Given the description of an element on the screen output the (x, y) to click on. 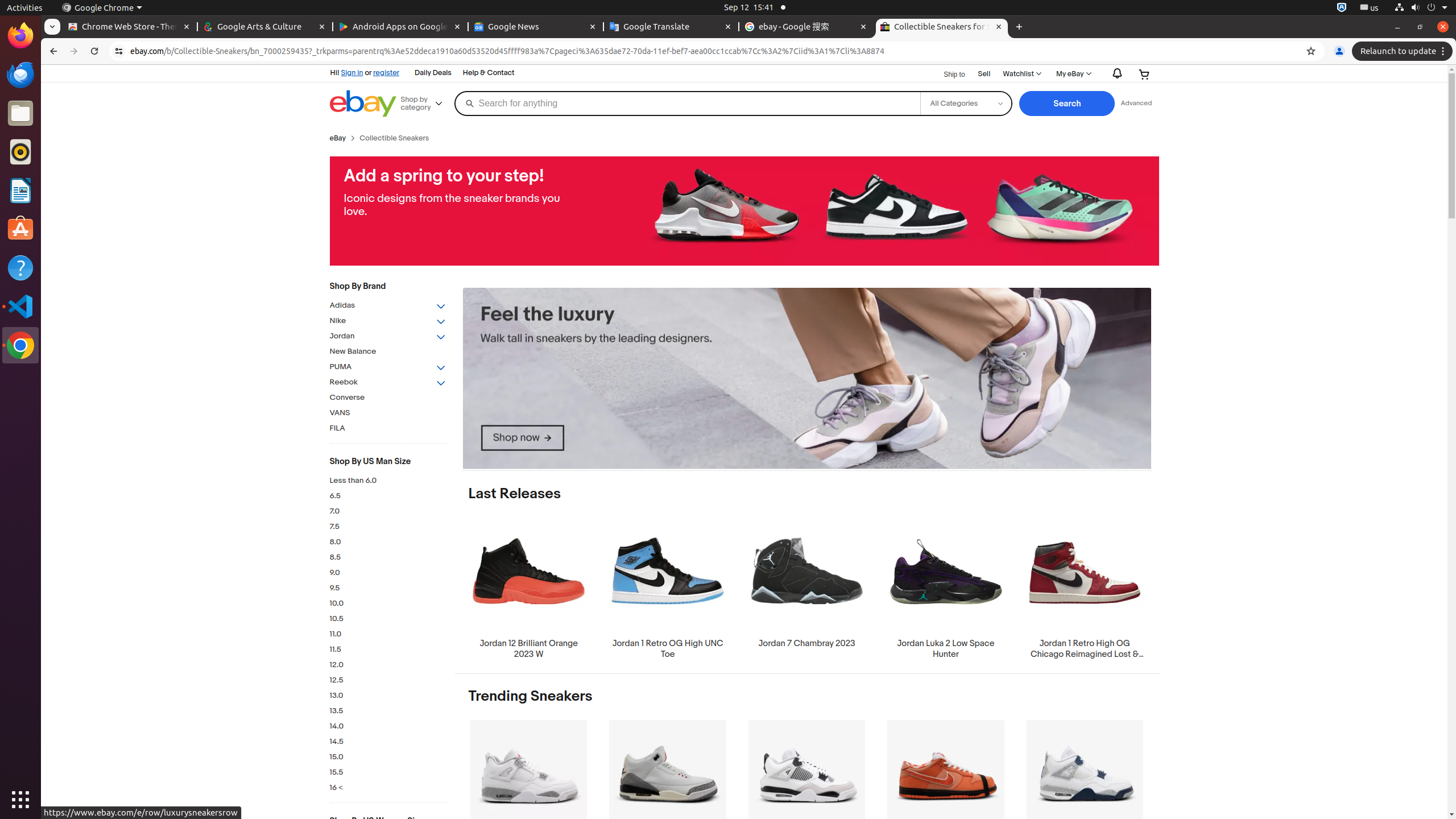
PUMA Element type: push-button (387, 366)
13.5 Element type: link (387, 710)
VANS Element type: link (387, 412)
Help Element type: push-button (20, 267)
9.0 Element type: link (387, 572)
